Given the description of an element on the screen output the (x, y) to click on. 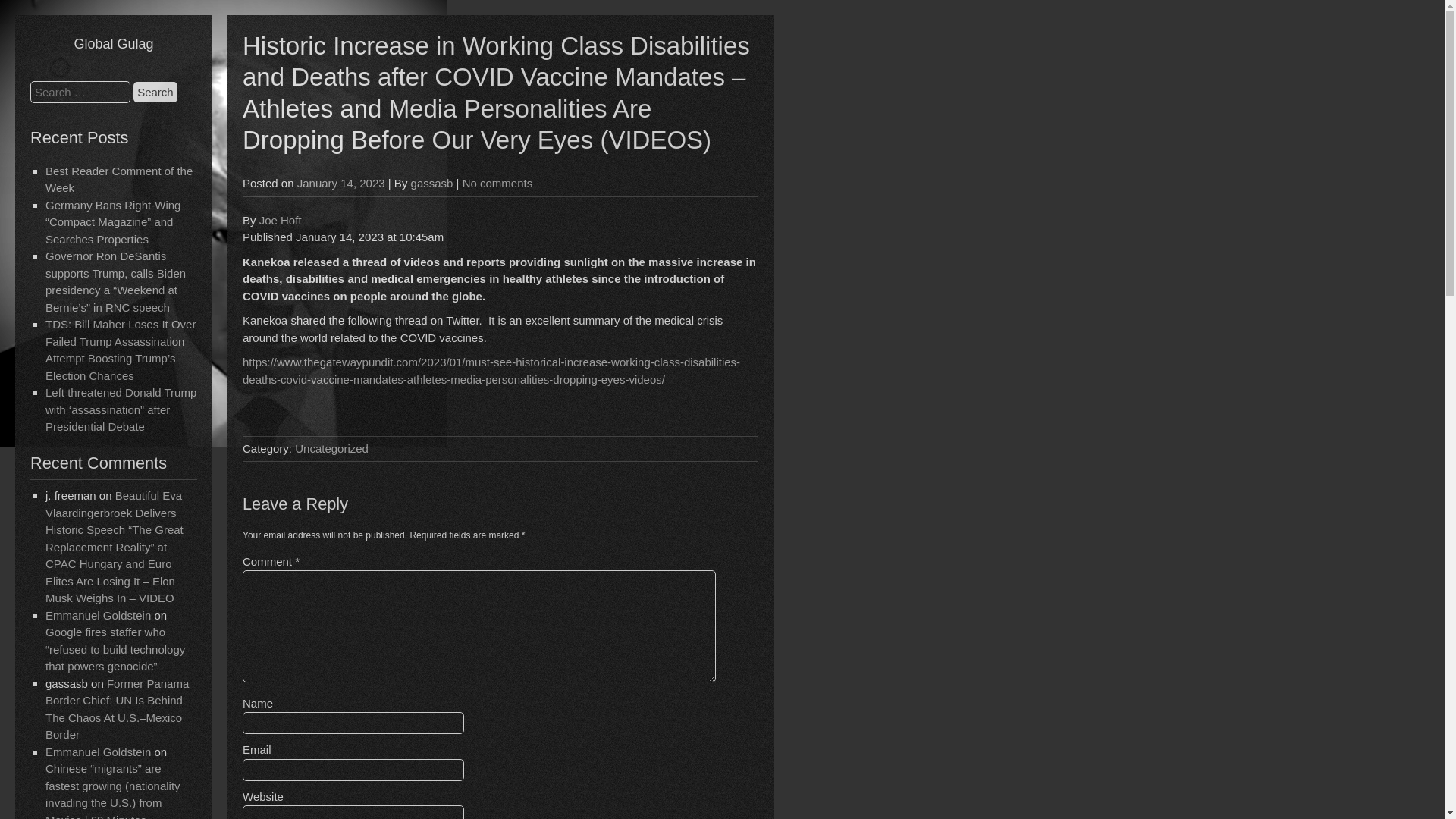
Emmanuel Goldstein (98, 751)
Emmanuel Goldstein (98, 615)
Search (155, 91)
Best Reader Comment of the Week (118, 179)
Search (155, 91)
Search (155, 91)
